Given the description of an element on the screen output the (x, y) to click on. 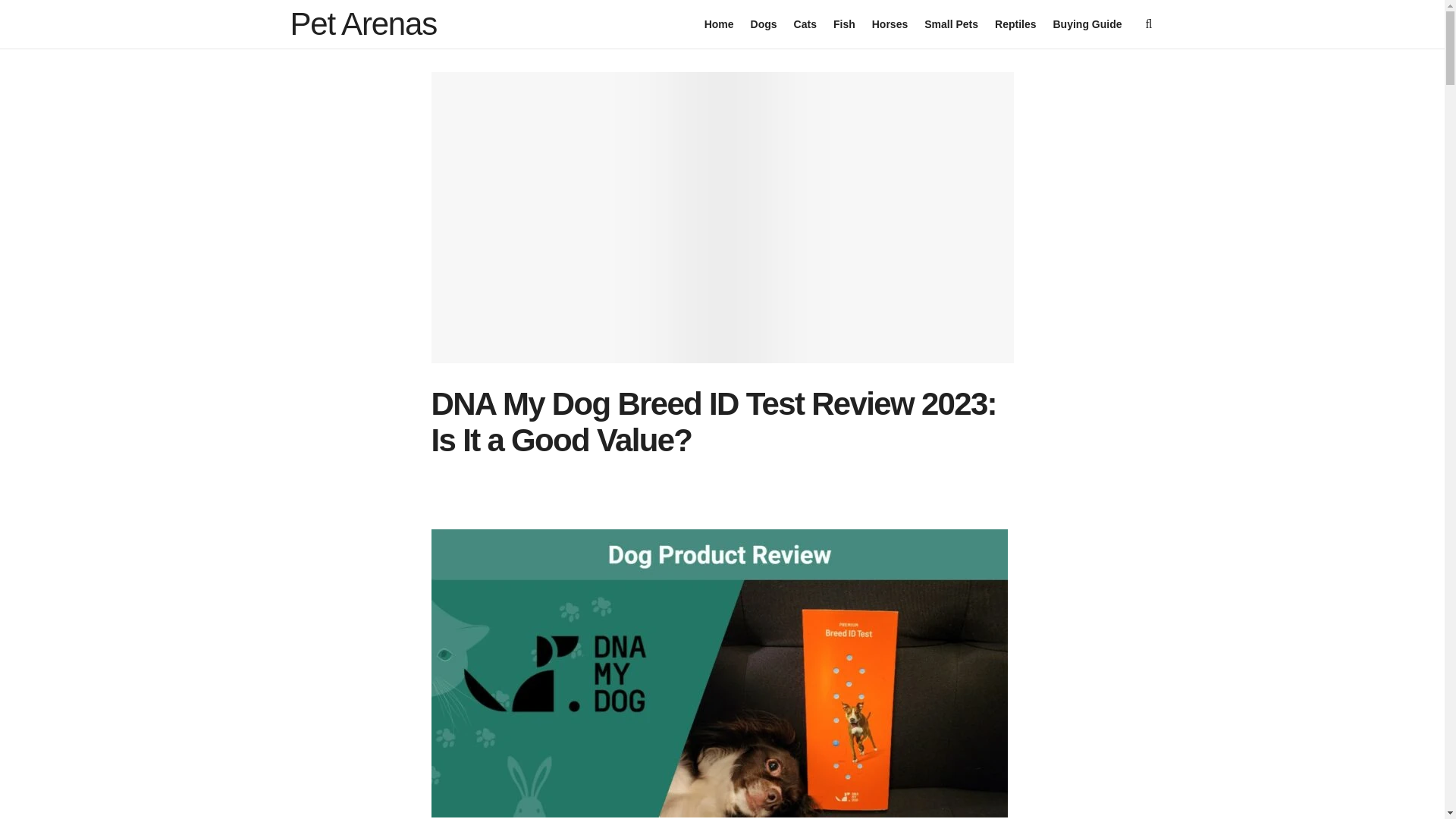
Pet Arenas (362, 24)
Buying Guide (1086, 24)
Small Pets (951, 24)
